Given the description of an element on the screen output the (x, y) to click on. 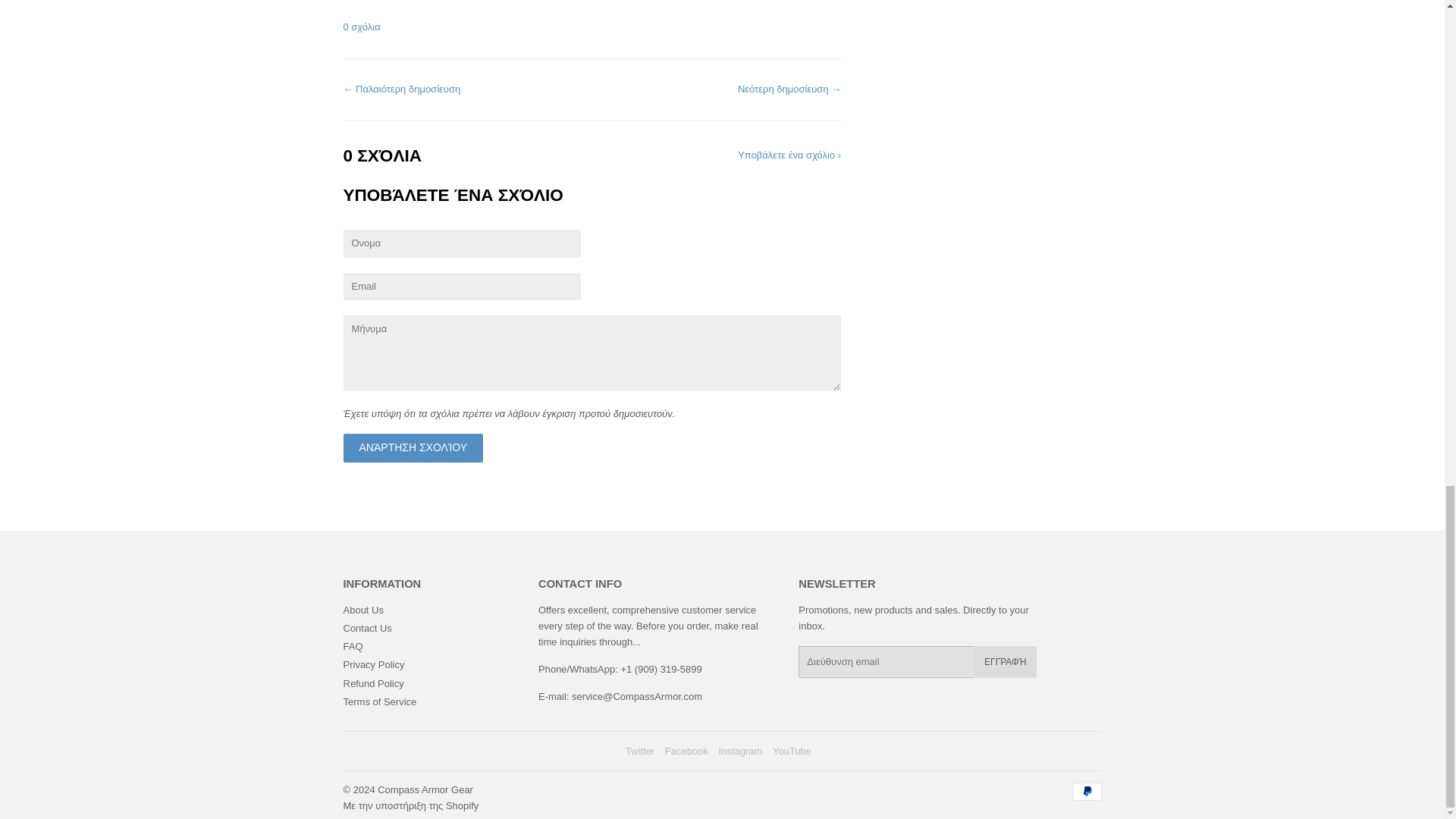
About Us (362, 609)
PayPal (1085, 791)
